Given the description of an element on the screen output the (x, y) to click on. 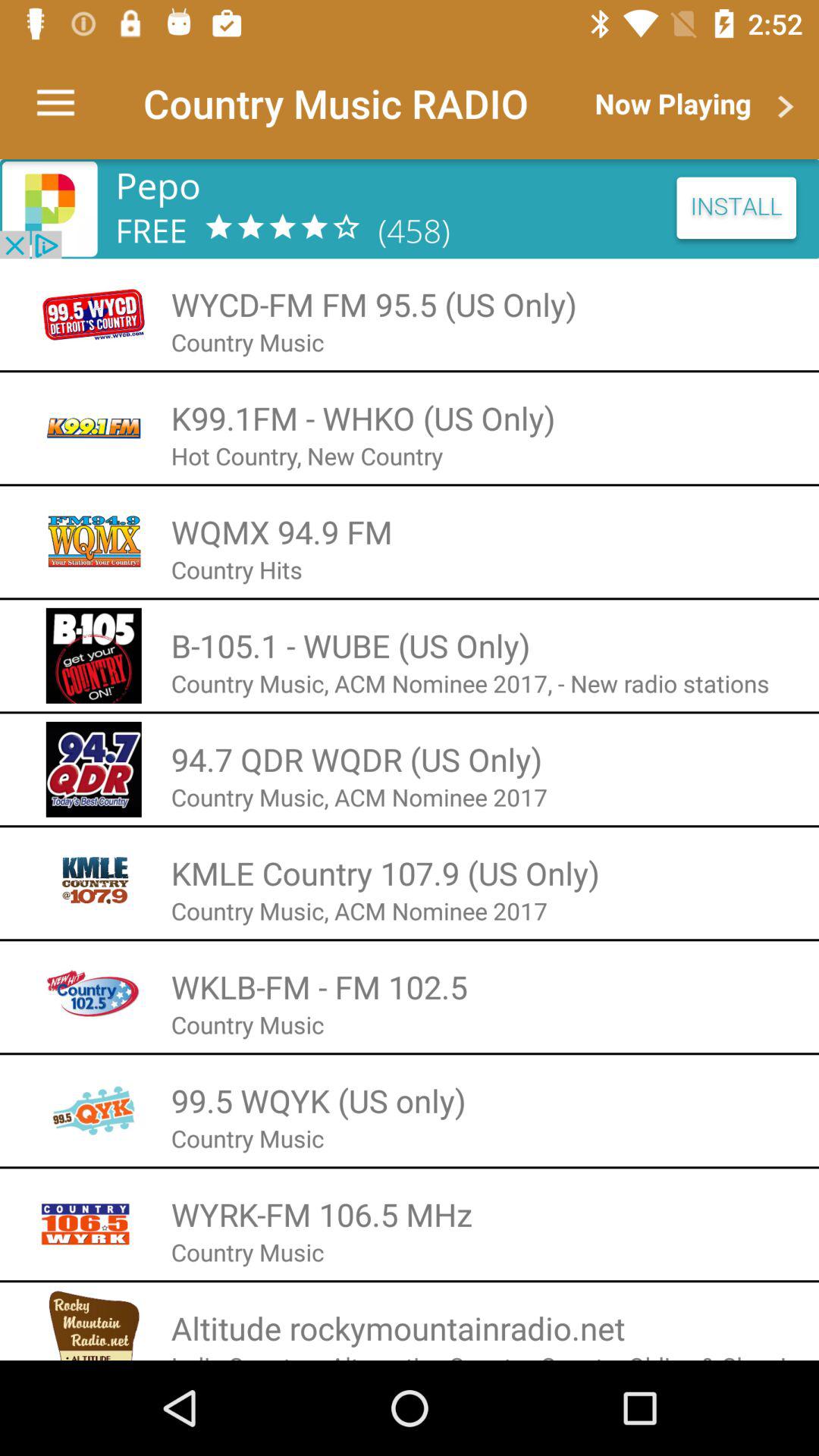
install an app (409, 208)
